Given the description of an element on the screen output the (x, y) to click on. 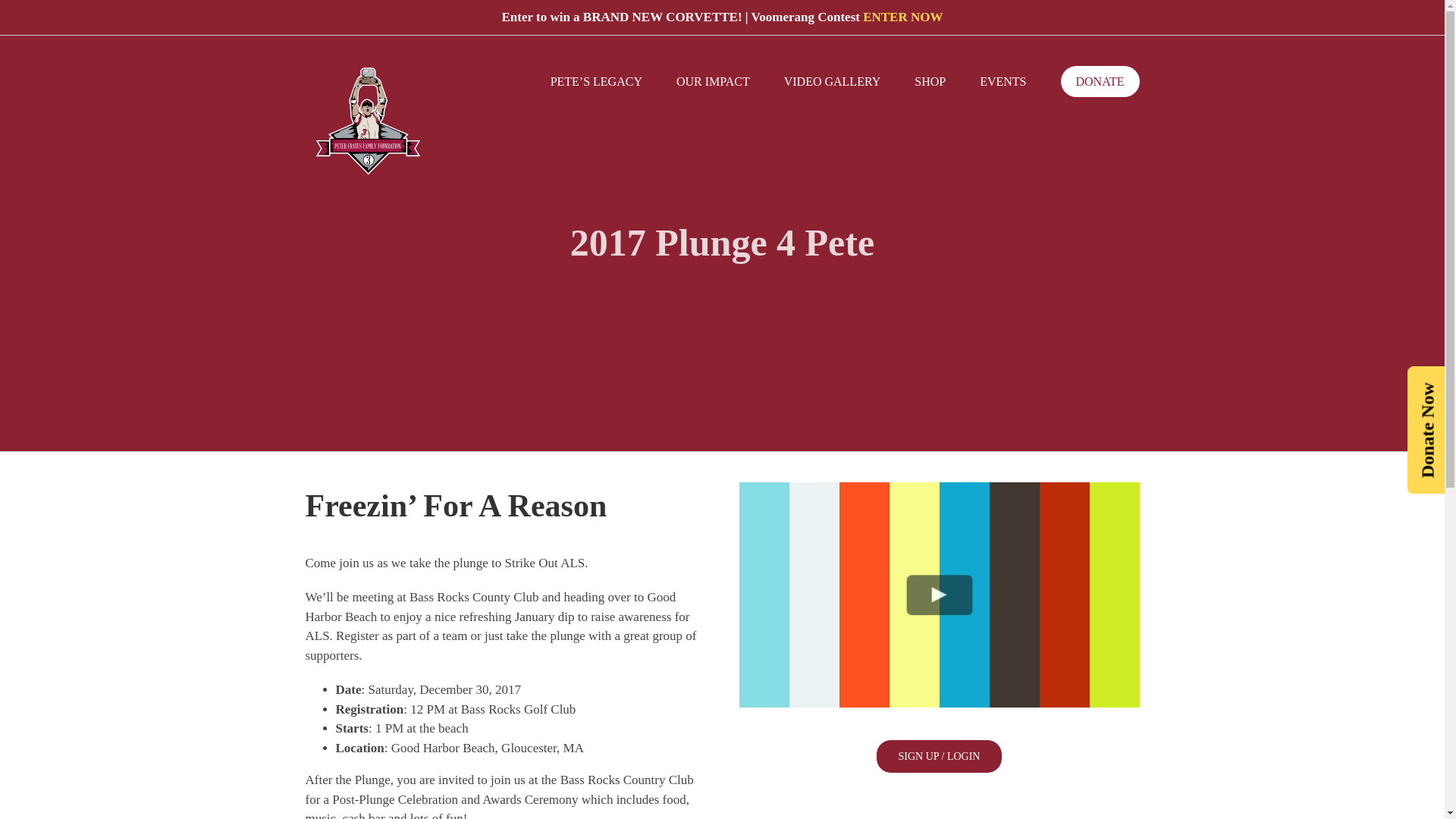
OUR IMPACT (713, 81)
DONATE (1098, 81)
Vimeo video player 1 (938, 594)
ENTER NOW (902, 16)
VIDEO GALLERY (832, 81)
